Given the description of an element on the screen output the (x, y) to click on. 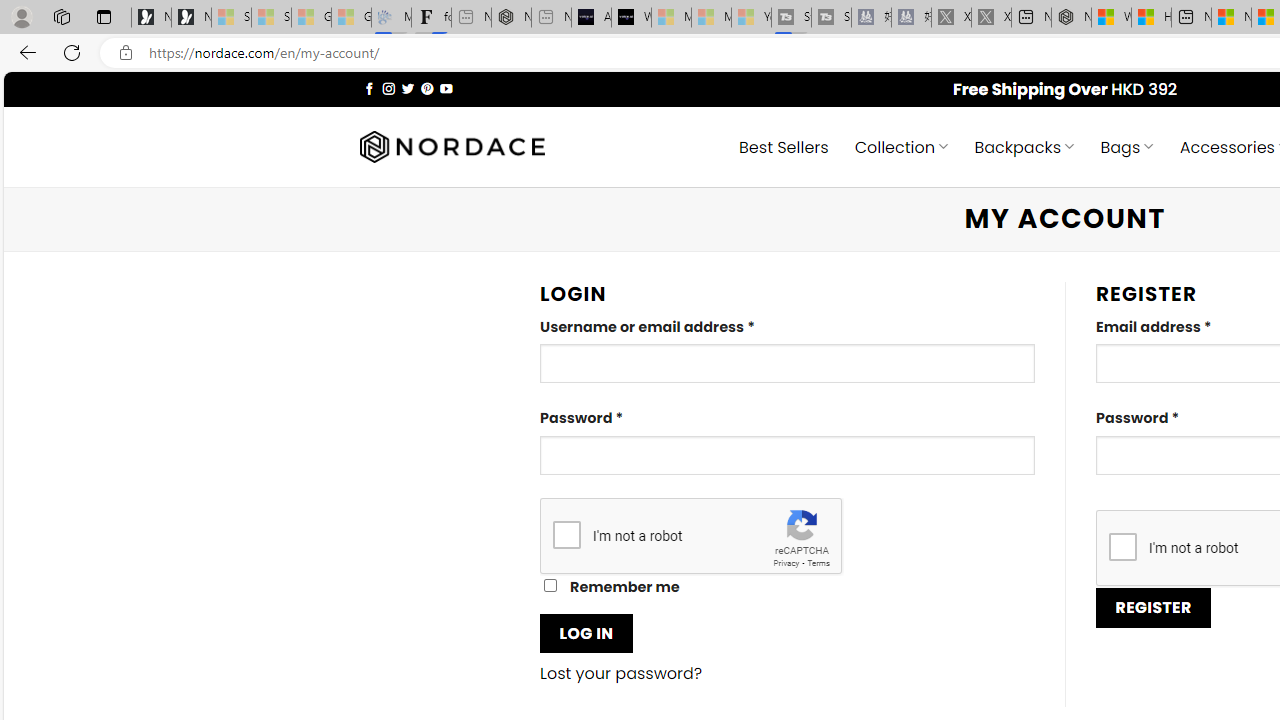
Nordace - My Account (1071, 17)
New tab - Sleeping (551, 17)
LOG IN (586, 632)
X - Sleeping (991, 17)
Remember me (550, 585)
Streaming Coverage | T3 - Sleeping (791, 17)
Terms (818, 562)
Follow on Facebook (369, 88)
Huge shark washes ashore at New York City beach | Watch (1151, 17)
